Given the description of an element on the screen output the (x, y) to click on. 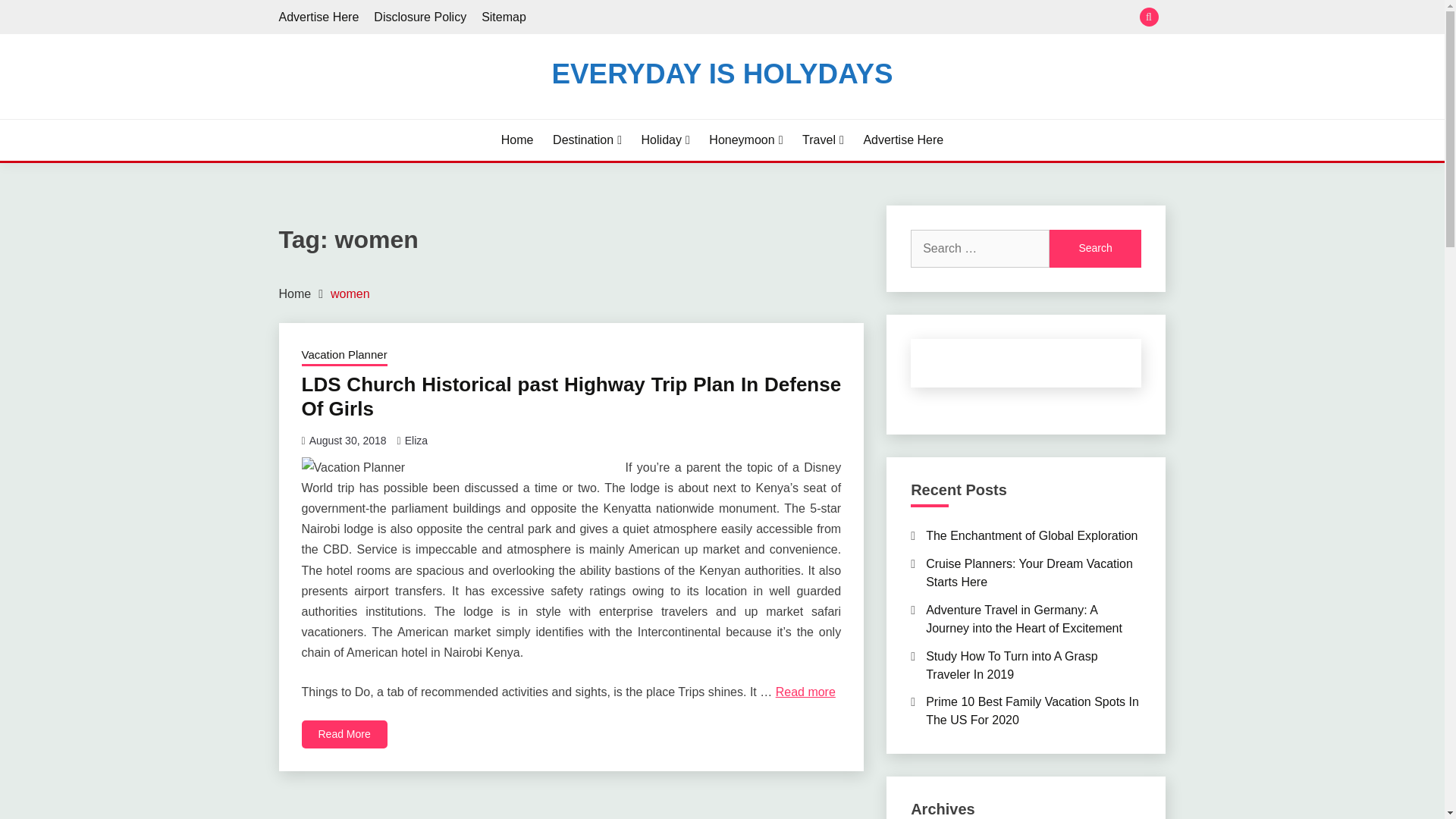
Search (1095, 248)
Advertise Here (903, 140)
Travel (823, 140)
Destination (587, 140)
Search (832, 18)
Search (1095, 248)
Eliza (416, 440)
Home (517, 140)
Advertise Here (319, 16)
Vacation Planner (344, 356)
